Given the description of an element on the screen output the (x, y) to click on. 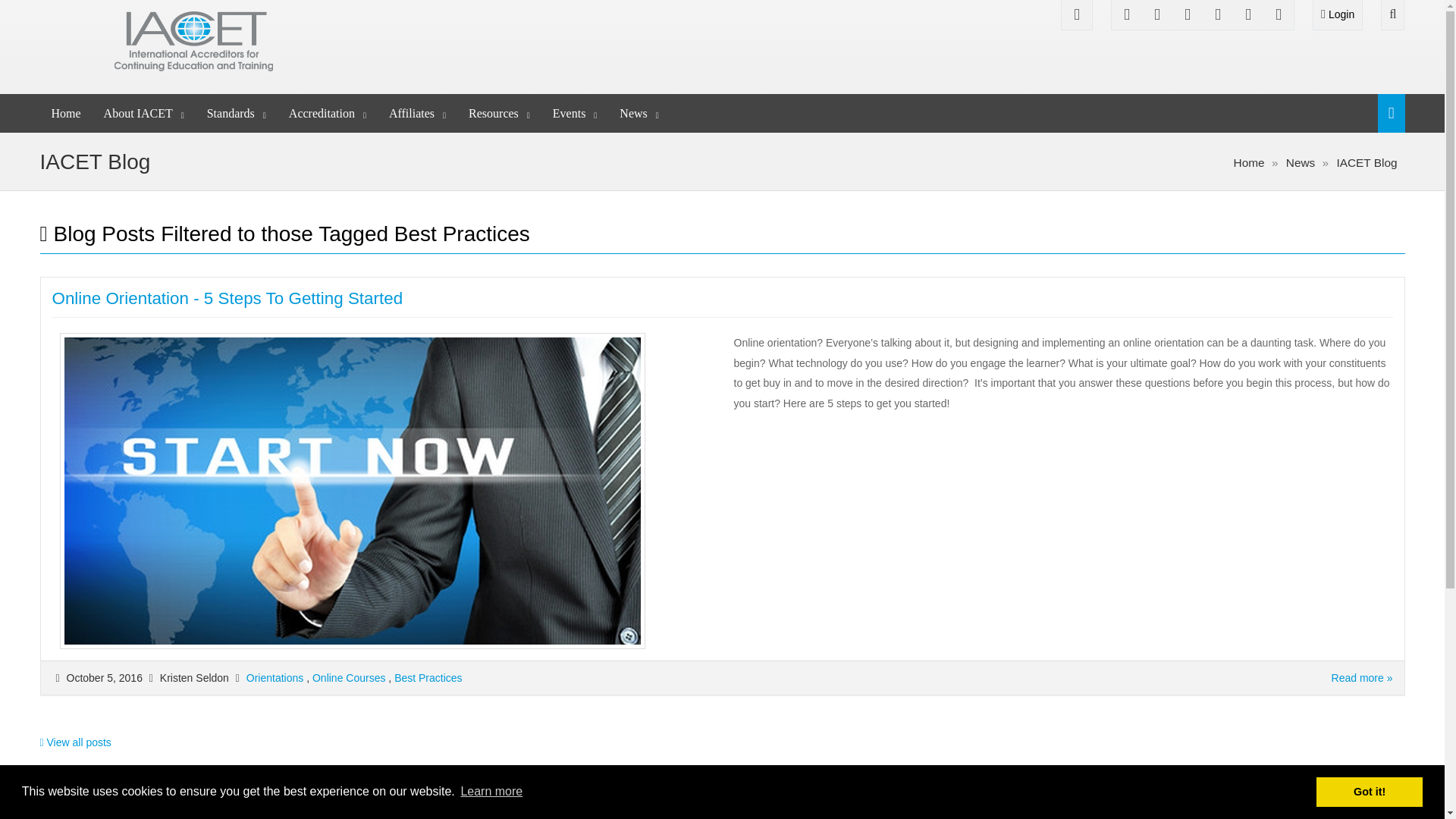
About IACET (144, 113)
Standards (236, 113)
Got it! (1369, 791)
Home (65, 113)
Accreditation (327, 113)
Learn more (491, 791)
